Given the description of an element on the screen output the (x, y) to click on. 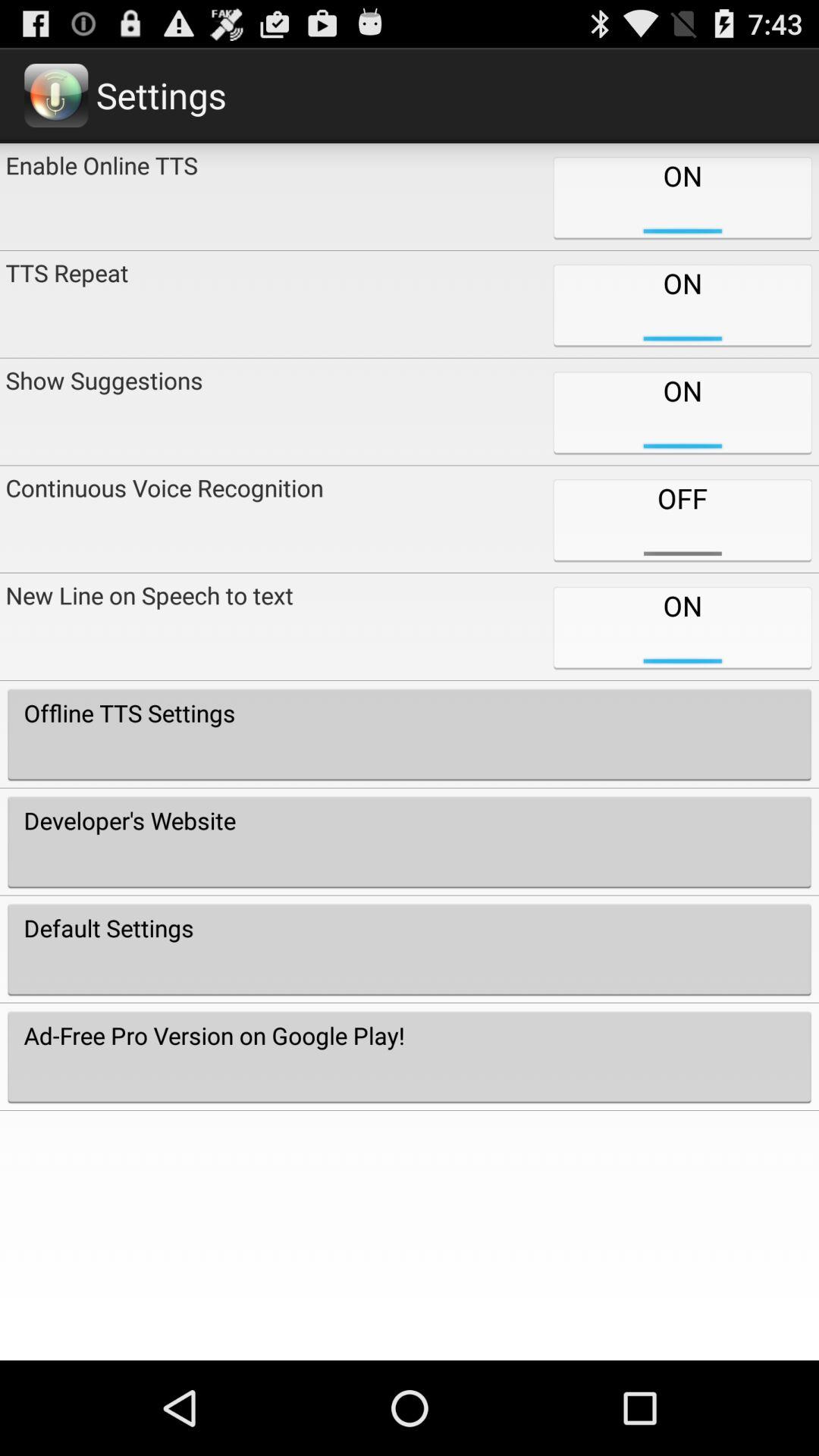
launch off (682, 519)
